Given the description of an element on the screen output the (x, y) to click on. 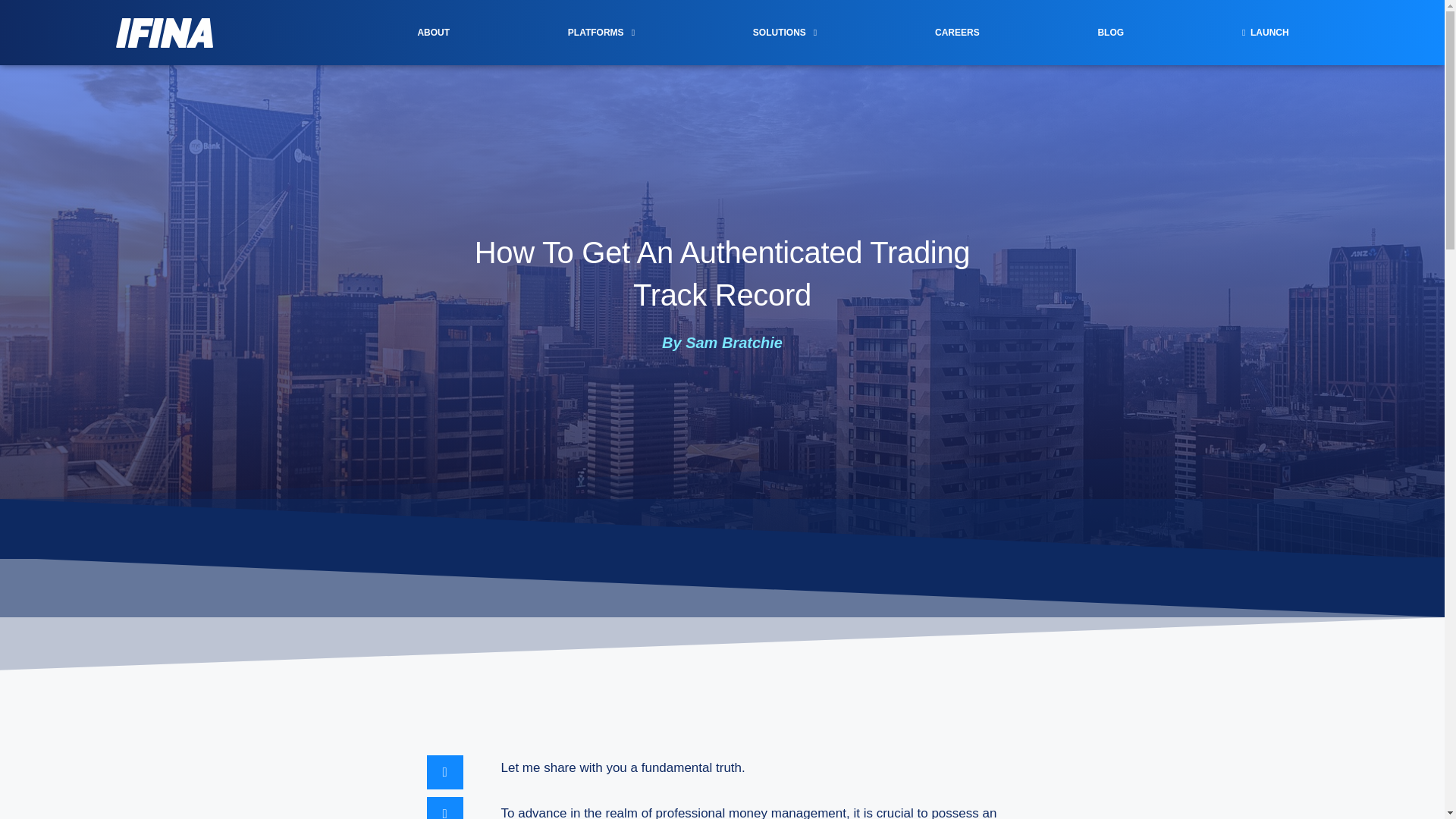
ABOUT (433, 32)
By Sam Bratchie (722, 342)
BLOG (1110, 32)
  LAUNCH (1265, 32)
CAREERS (957, 32)
SOLUTIONS (785, 32)
PLATFORMS (601, 32)
